Given the description of an element on the screen output the (x, y) to click on. 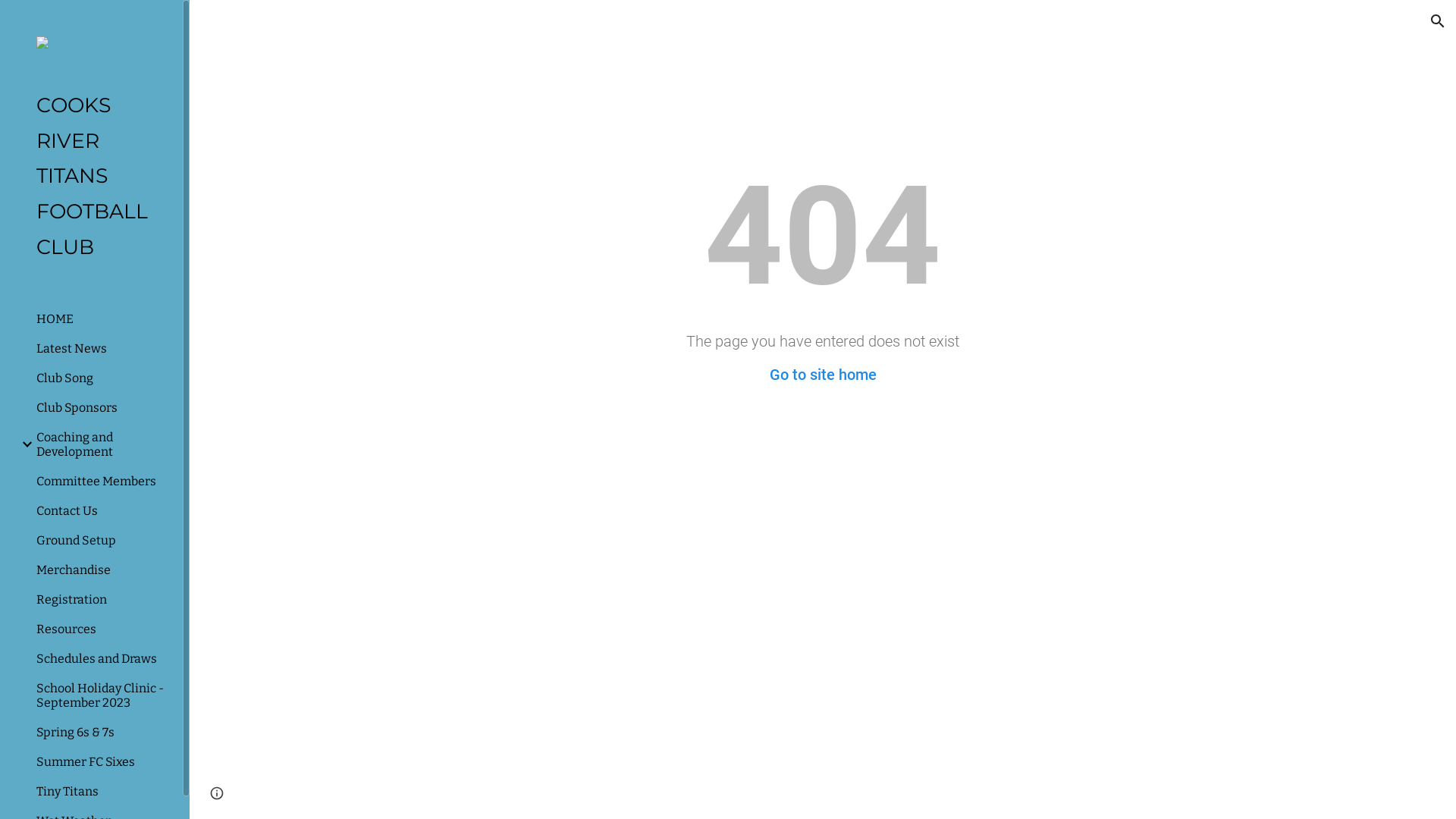
Committee Members Element type: text (103, 480)
Expand/Collapse Element type: hover (22, 444)
Go to site home Element type: text (821, 374)
School Holiday Clinic - September 2023 Element type: text (103, 694)
Merchandise Element type: text (103, 569)
Summer FC Sixes Element type: text (103, 761)
Contact Us Element type: text (103, 510)
Registration Element type: text (103, 599)
HOME Element type: text (103, 318)
Spring 6s & 7s Element type: text (103, 731)
Latest News Element type: text (103, 348)
Coaching and Development Element type: text (103, 443)
Ground Setup Element type: text (103, 540)
Schedules and Draws Element type: text (103, 658)
Club Song Element type: text (103, 377)
Club Sponsors Element type: text (103, 407)
COOKS RIVER TITANS FOOTBALL CLUB Element type: text (97, 175)
Resources Element type: text (103, 628)
Tiny Titans Element type: text (103, 791)
